Given the description of an element on the screen output the (x, y) to click on. 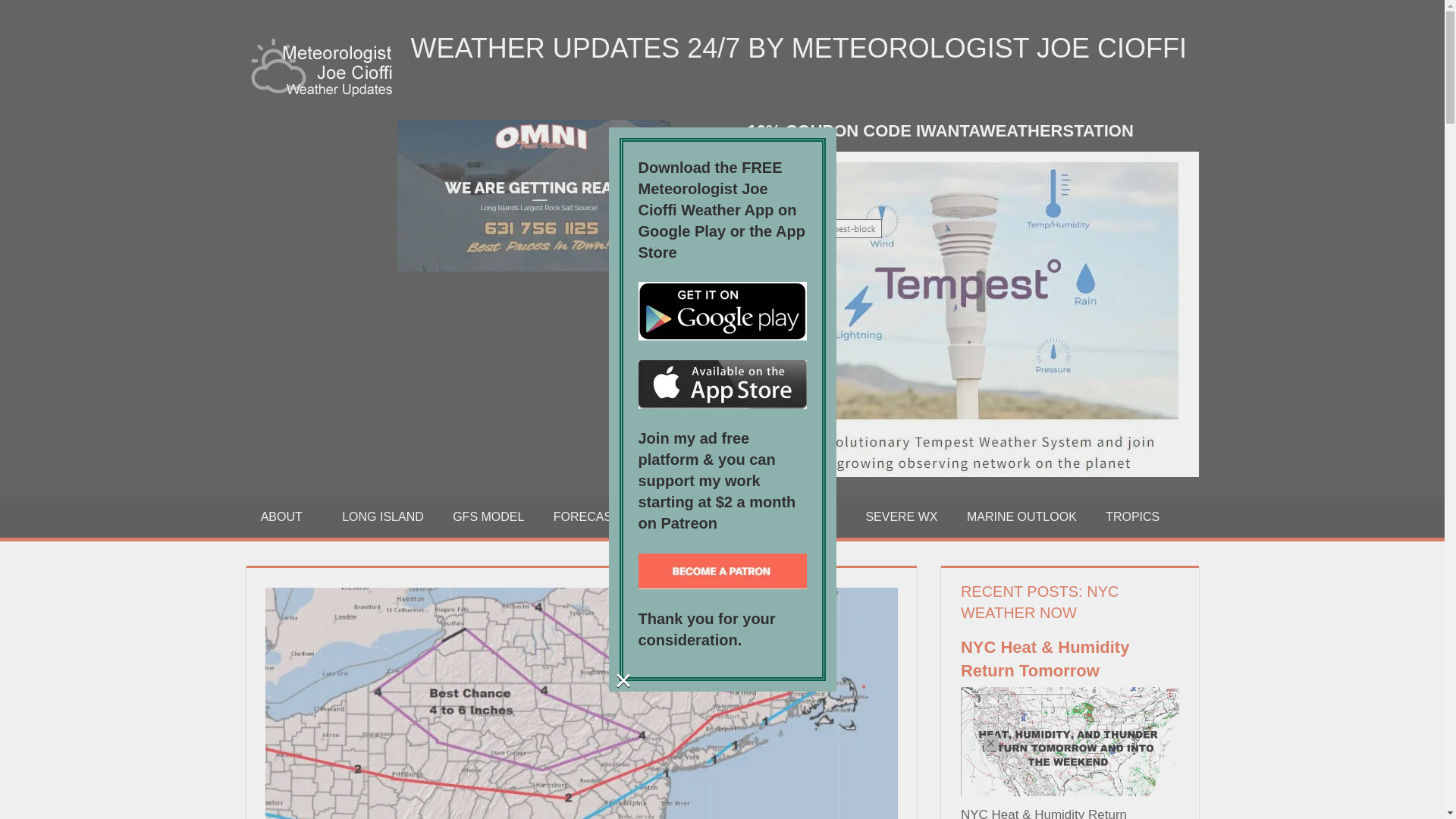
TROPICS (1132, 517)
EURO MODEL (794, 517)
MARINE OUTLOOK (1021, 517)
ABOUT (286, 517)
WINTER (695, 517)
LONG ISLAND (382, 517)
FORECASTS (595, 517)
GFS MODEL (488, 517)
SEVERE WX (901, 517)
